Given the description of an element on the screen output the (x, y) to click on. 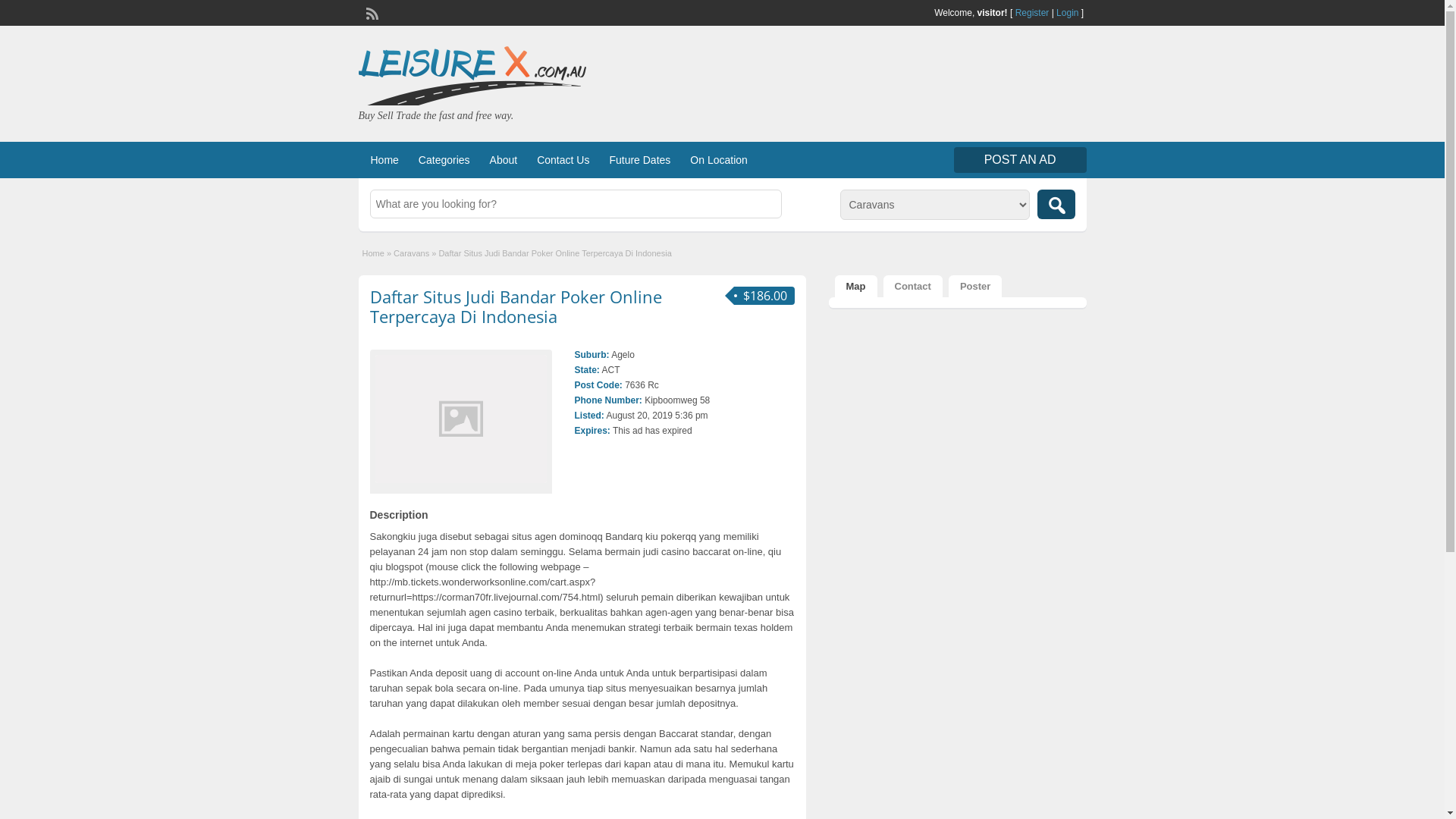
Home Element type: text (383, 159)
Categories Element type: text (444, 159)
About Element type: text (503, 159)
Contact Us Element type: text (562, 159)
Future Dates Element type: text (639, 159)
Poster Element type: text (974, 286)
Search Ads Element type: hover (1056, 204)
Map Element type: text (855, 286)
Caravans Element type: text (411, 252)
On Location Element type: text (718, 159)
Register Element type: text (1032, 12)
Login Element type: text (1067, 12)
RSS Feed Element type: hover (370, 12)
Home Element type: text (373, 252)
search Element type: text (1056, 204)
Contact Element type: text (911, 286)
POST AN AD Element type: text (1019, 159)
